Given the description of an element on the screen output the (x, y) to click on. 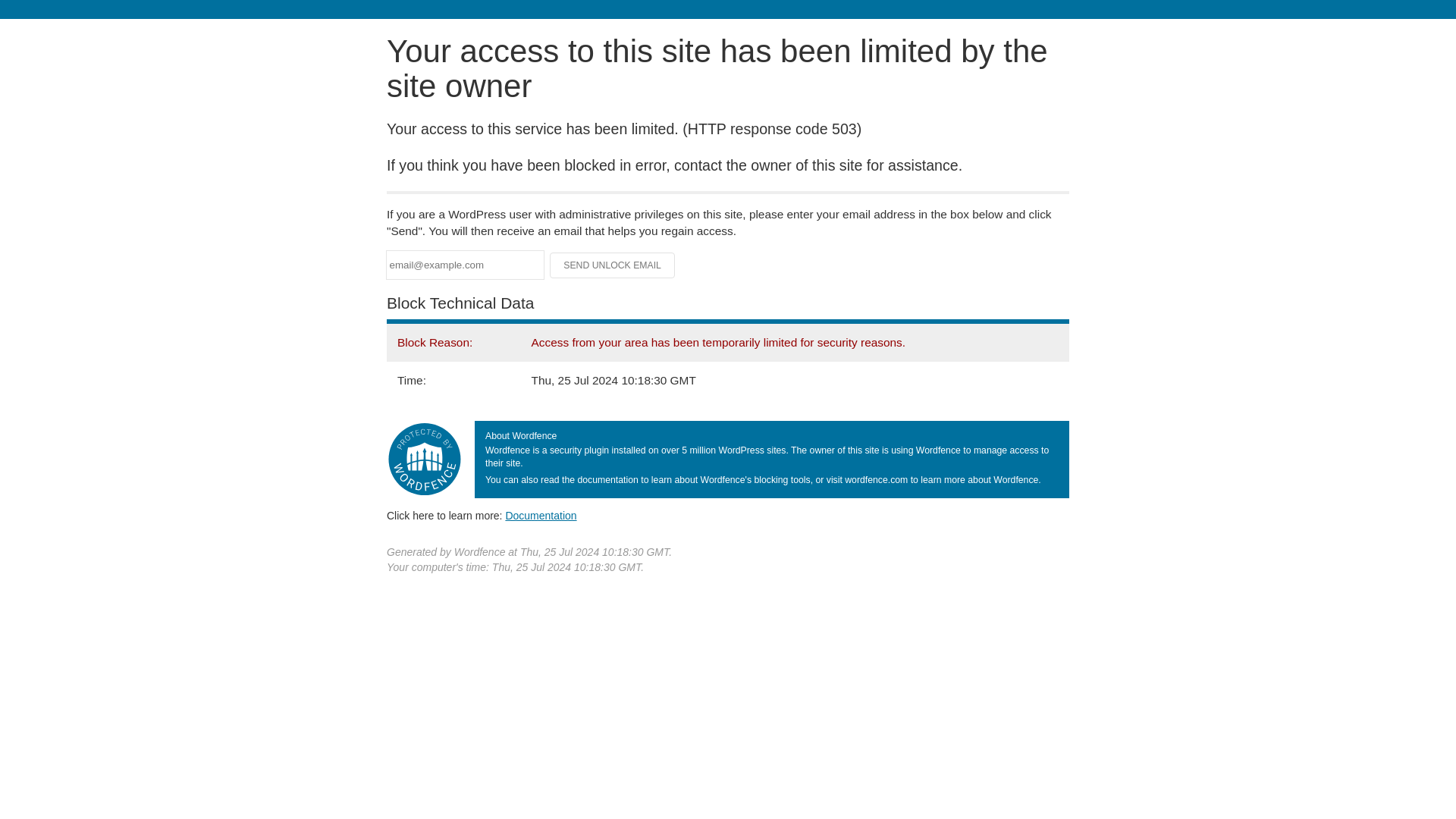
Documentation (540, 515)
Send Unlock Email (612, 265)
Send Unlock Email (612, 265)
